Given the description of an element on the screen output the (x, y) to click on. 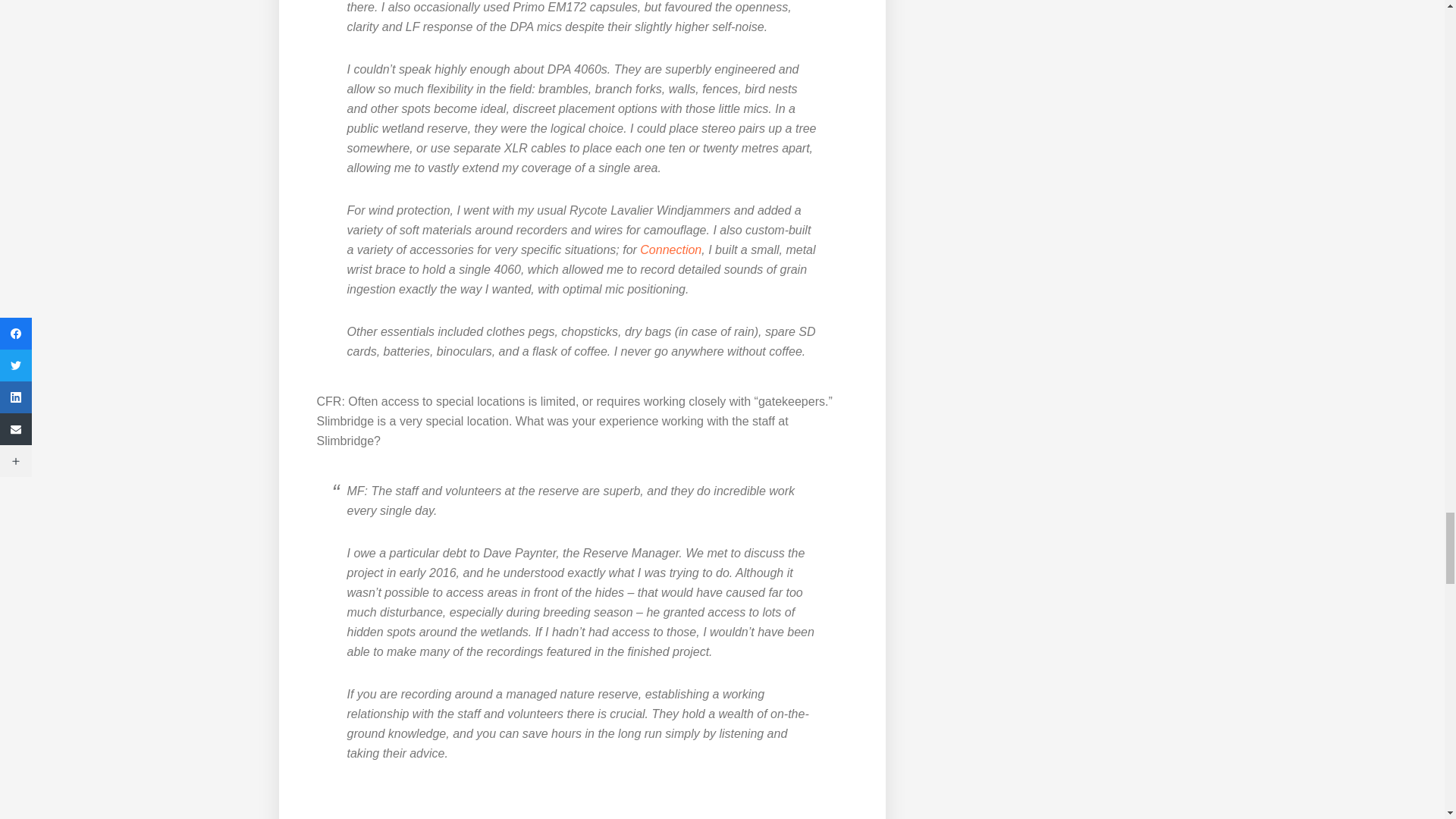
Connection (670, 249)
